Given the description of an element on the screen output the (x, y) to click on. 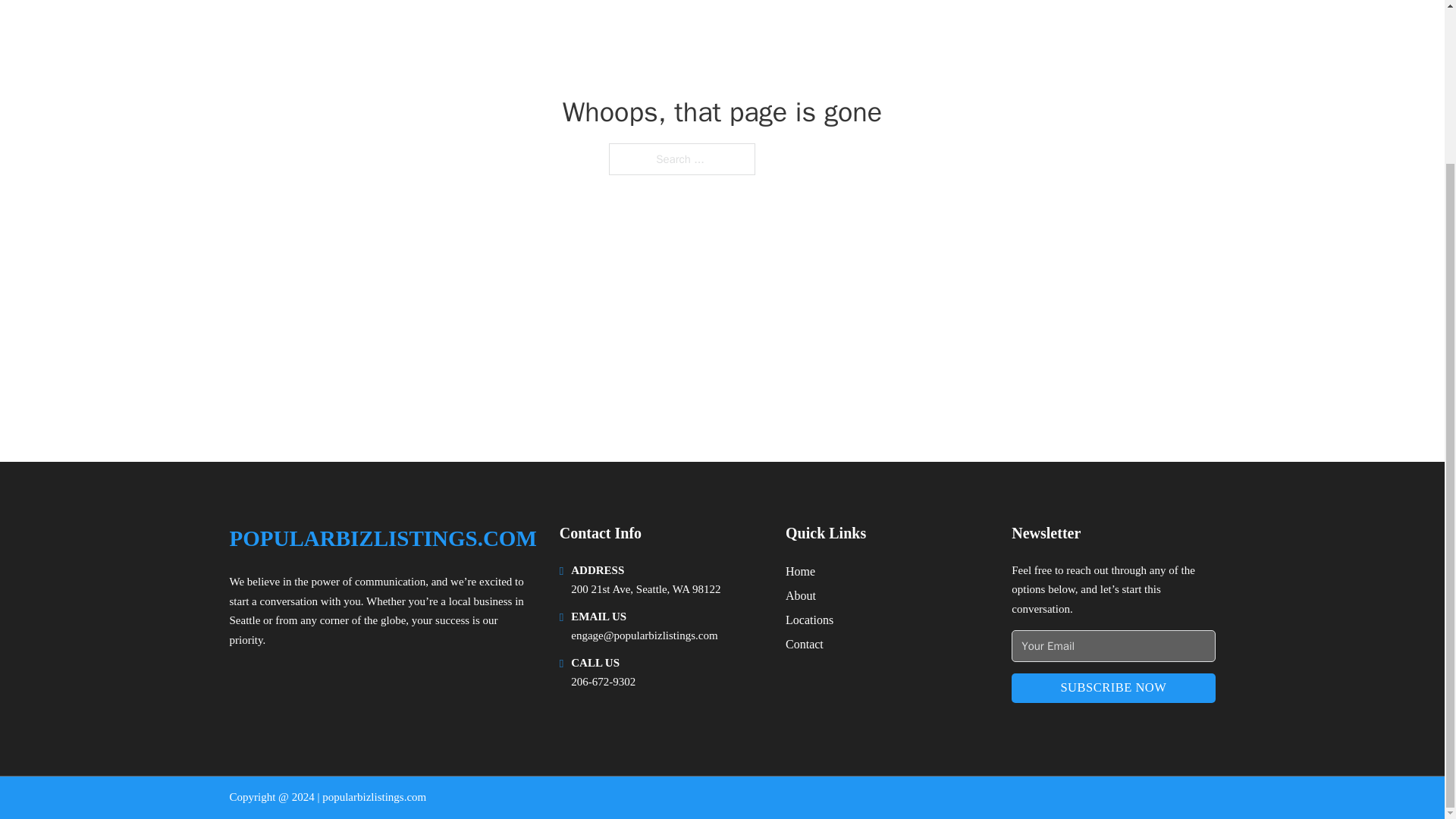
Contact (805, 643)
About (800, 595)
Locations (809, 619)
206-672-9302 (602, 681)
POPULARBIZLISTINGS.COM (381, 538)
Home (800, 571)
SUBSCRIBE NOW (1112, 687)
